Given the description of an element on the screen output the (x, y) to click on. 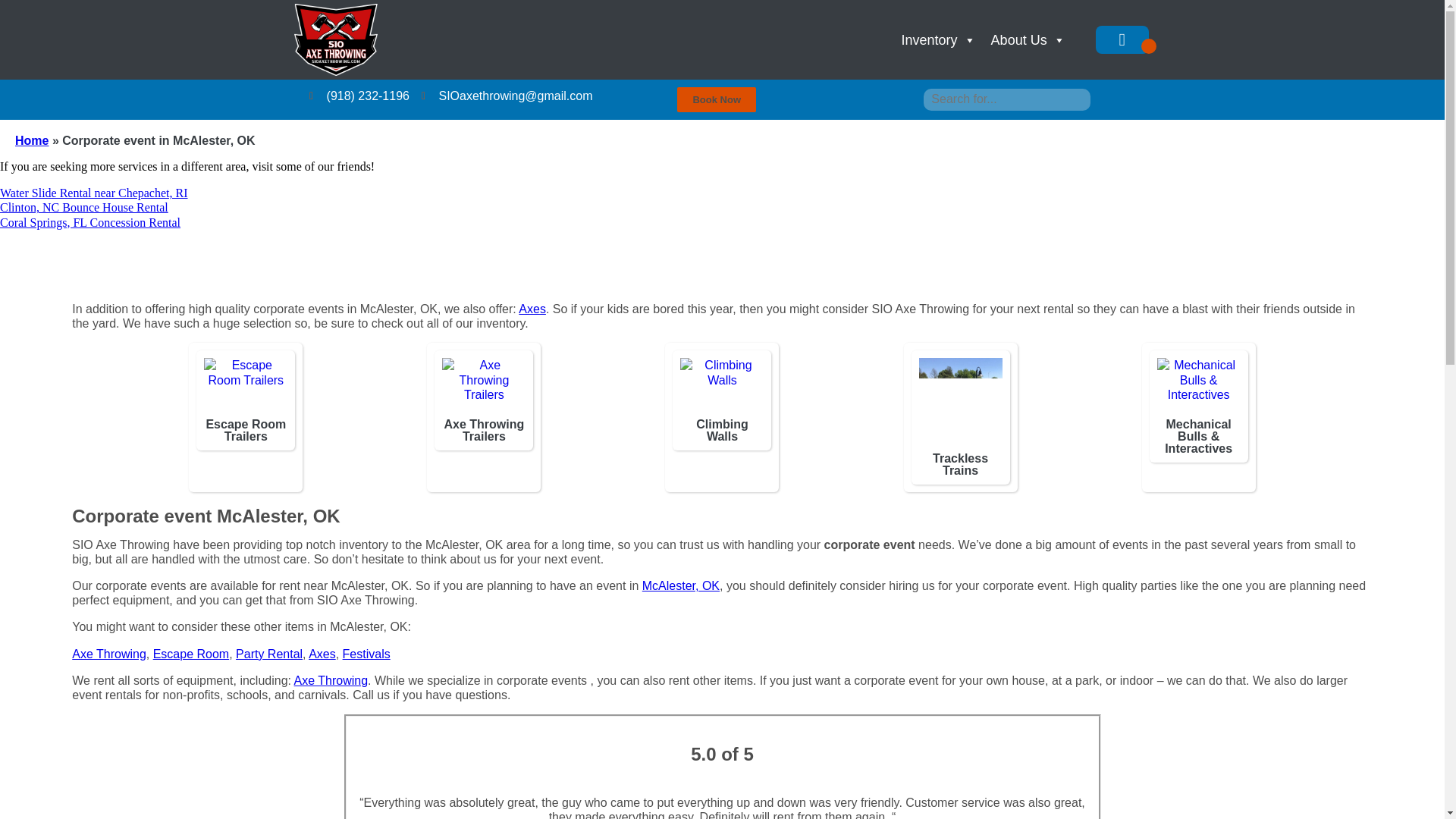
Search (22, 9)
McAlester, OK (680, 585)
Axe Throwing Trailers (483, 387)
Trackless Trains (960, 464)
Coral Springs, FL Concession Rental (90, 222)
Water Slide Rental near Chepachet, RI (93, 192)
Climbing Walls (720, 430)
Inventory (938, 40)
Axe Throwing (109, 653)
Escape Room Trailers (244, 430)
Climbing Walls (720, 387)
Clinton, NC Bounce House Rental (84, 206)
Escape Room Trailers (244, 387)
About Us (1028, 40)
Axes (532, 308)
